Given the description of an element on the screen output the (x, y) to click on. 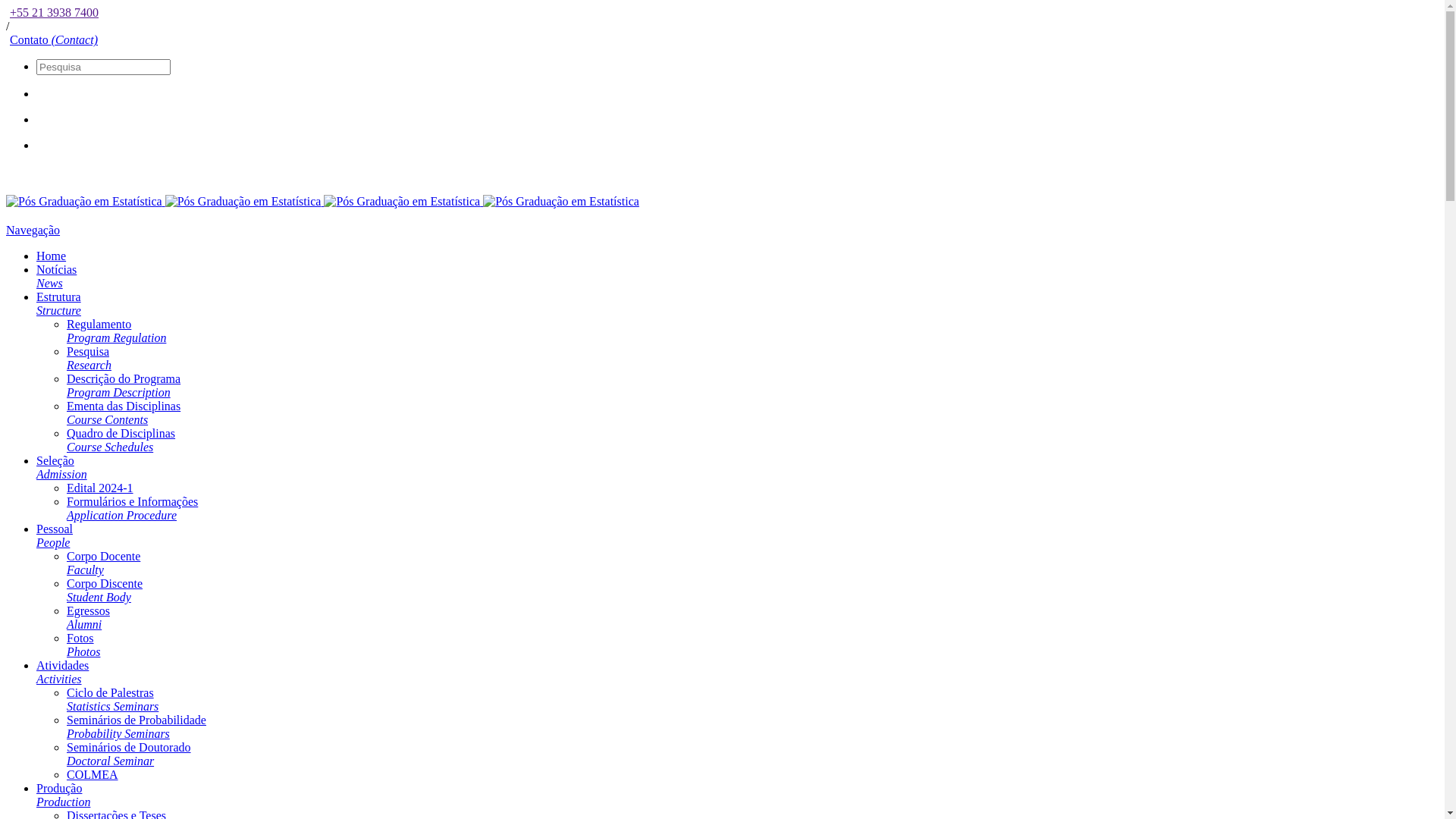
Pessoal
People Element type: text (54, 535)
Home Element type: text (50, 255)
Pesquisa
Research Element type: text (88, 358)
Edital 2024-1 Element type: text (99, 487)
Corpo Discente
Student Body Element type: text (104, 590)
Corpo Docente
Faculty Element type: text (103, 562)
Quadro de Disciplinas
Course Schedules Element type: text (120, 439)
Atividades
Activities Element type: text (62, 671)
Fotos
Photos Element type: text (83, 644)
Regulamento
Program Regulation Element type: text (116, 330)
Ciclo de Palestras
Statistics Seminars Element type: text (112, 699)
Ementa das Disciplinas
Course Contents Element type: text (123, 412)
Egressos
Alumni Element type: text (87, 617)
Estrutura
Structure Element type: text (58, 303)
+55 21 3938 7400 Element type: text (52, 12)
COLMEA Element type: text (92, 774)
Contato (Contact) Element type: text (51, 39)
